Given the description of an element on the screen output the (x, y) to click on. 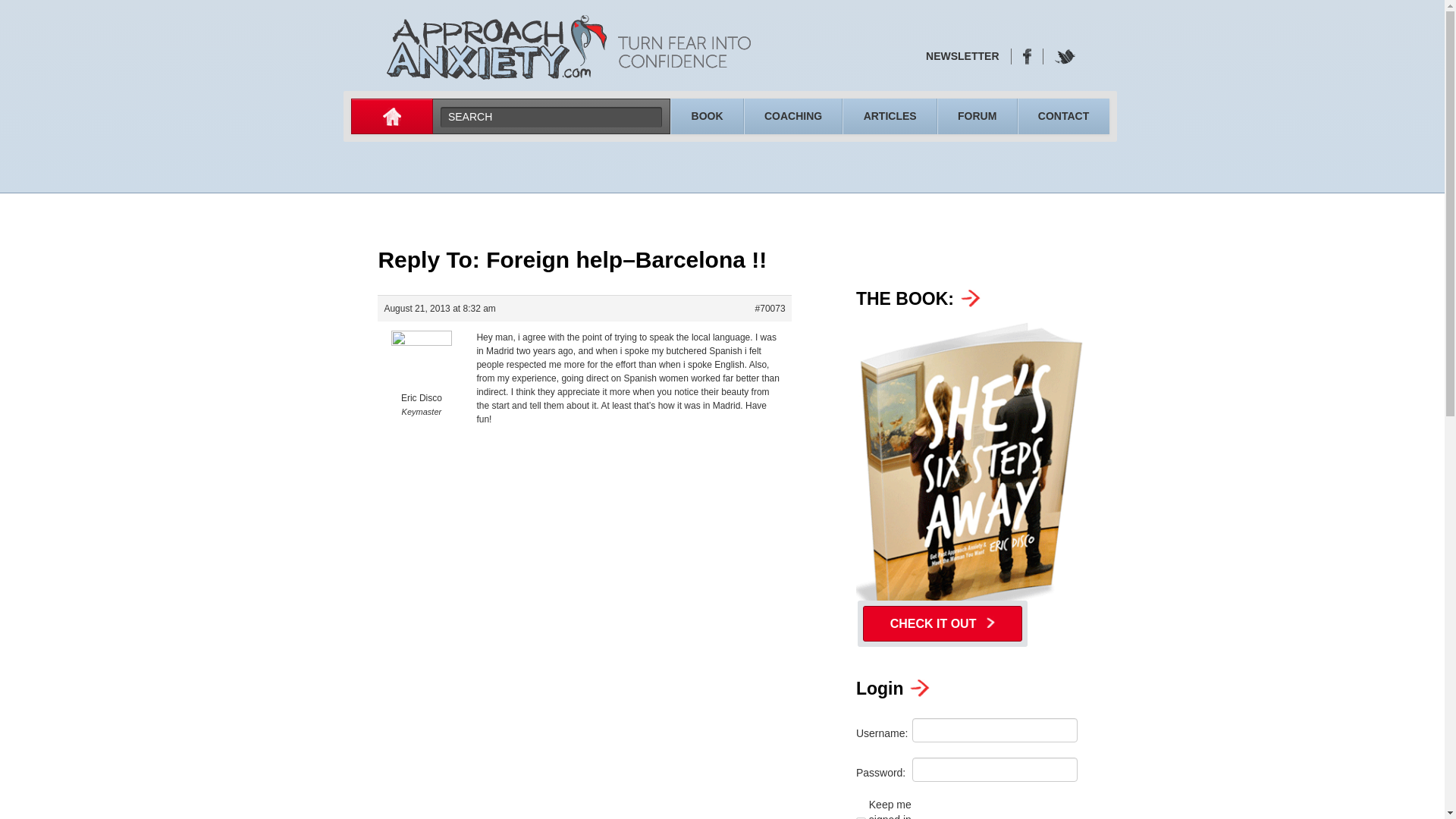
FORUM (976, 115)
NEWSLETTER (962, 55)
CONTACT (1063, 115)
CHECK IT OUT (942, 623)
BOOK (706, 115)
ARTICLES (889, 115)
COACHING (793, 115)
Eric Disco (420, 377)
View Eric Disco's profile (420, 377)
